Given the description of an element on the screen output the (x, y) to click on. 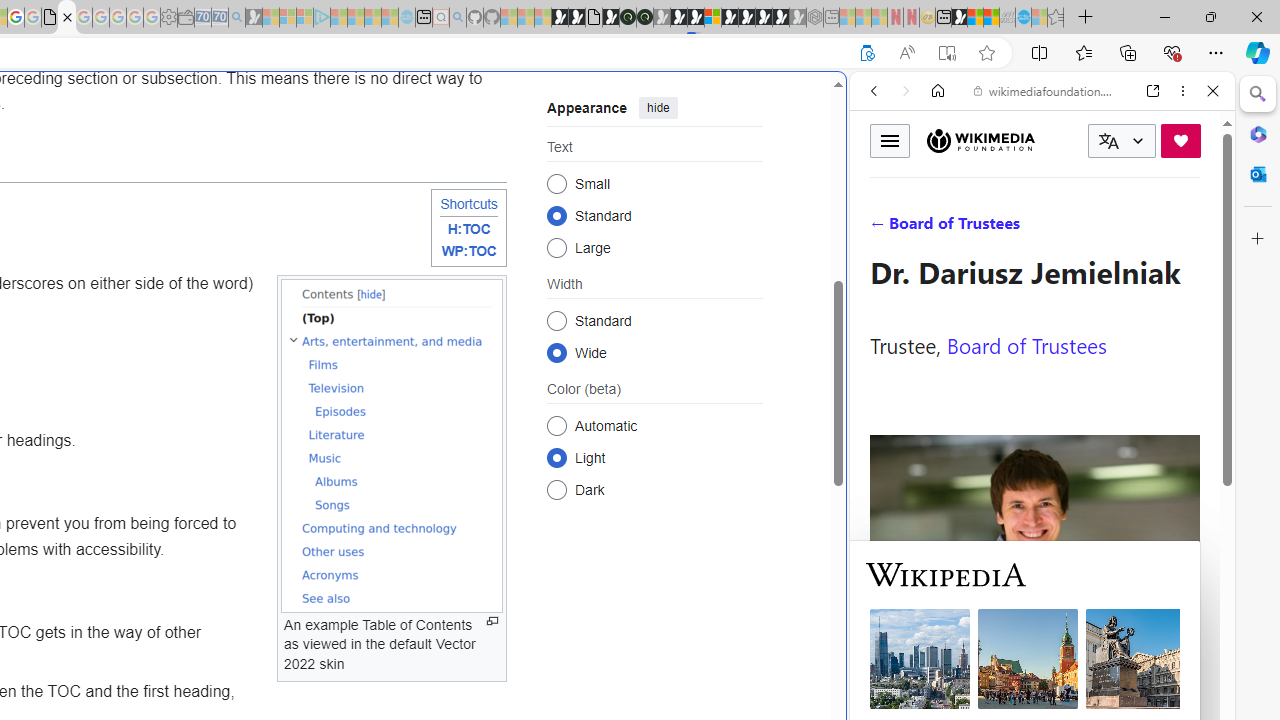
wikimediafoundation.org (1045, 90)
Services - Maintenance | Sky Blue Bikes - Sky Blue Bikes (1023, 17)
Search or enter web address (343, 191)
WP:TOC (468, 251)
Future Focus Report 2024 (644, 17)
SEARCH TOOLS (1093, 228)
Light (556, 457)
Search the web (1051, 137)
WEB   (882, 228)
Settings - Sleeping (168, 17)
